Given the description of an element on the screen output the (x, y) to click on. 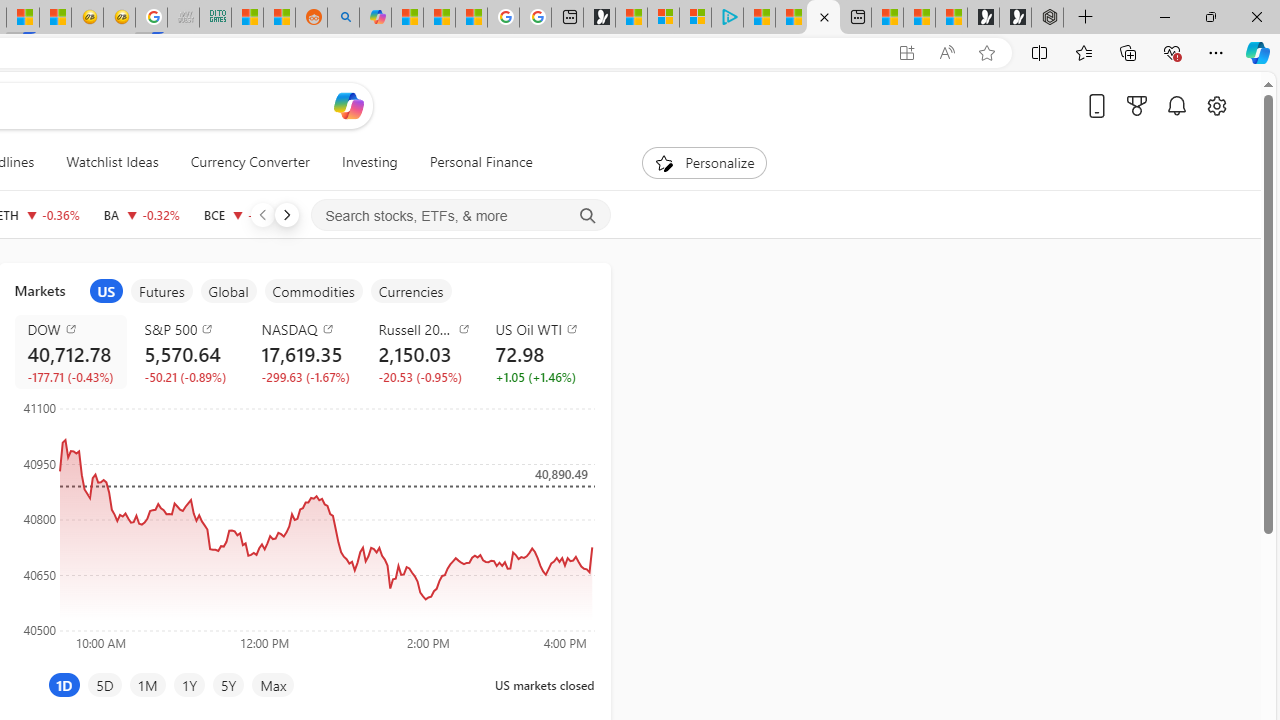
Class: recharts-surface (304, 524)
5D (104, 684)
1M (147, 684)
item1 (106, 291)
Investing (369, 162)
Nordace - Nordace Siena Is Not An Ordinary Backpack (1047, 17)
Watchlist Ideas (112, 162)
DITOGAMES AG Imprint (215, 17)
MSNBC - MSN (246, 17)
Microsoft rewards (1137, 105)
